Given the description of an element on the screen output the (x, y) to click on. 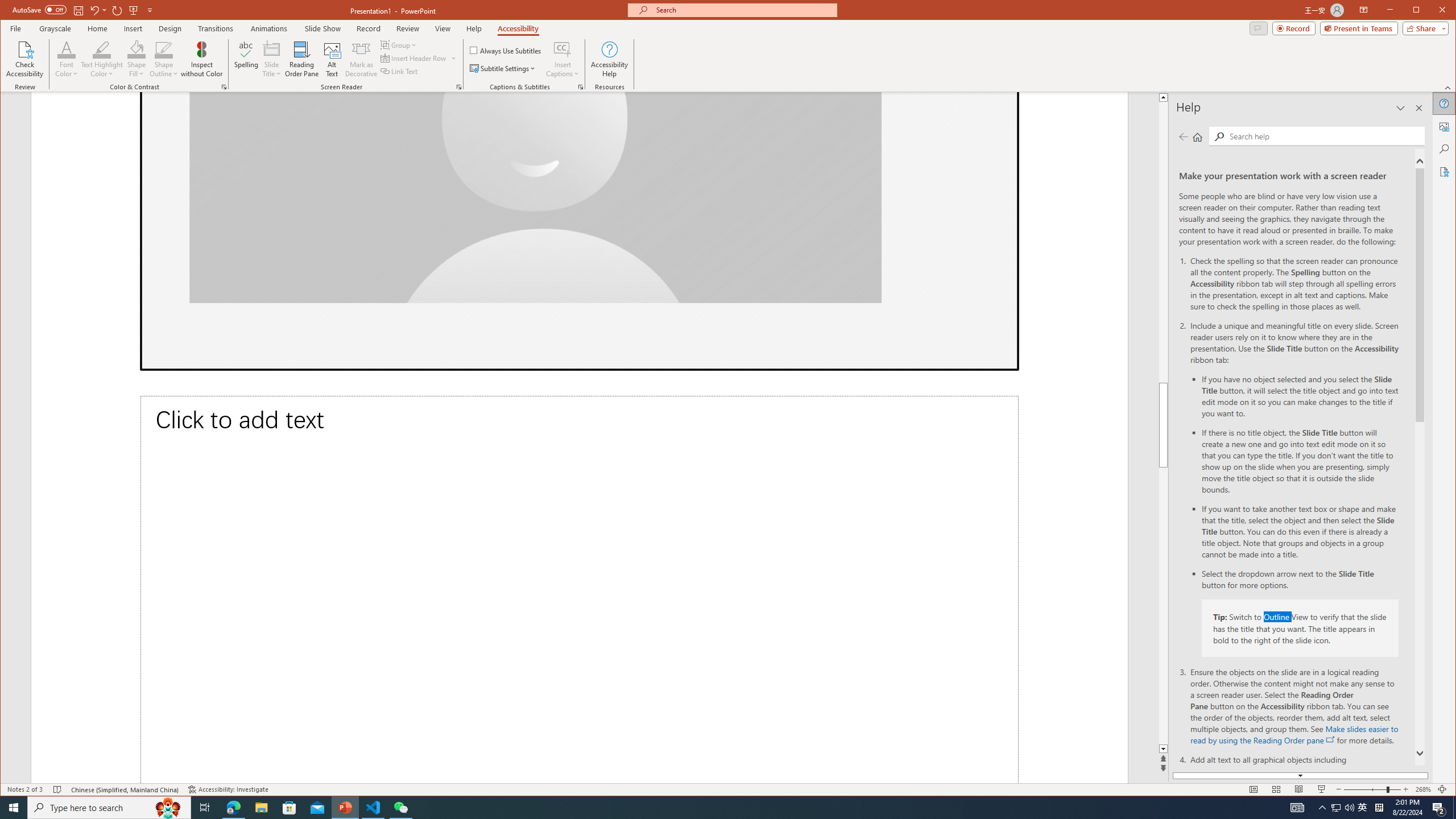
Always Use Subtitles (505, 49)
